Given the description of an element on the screen output the (x, y) to click on. 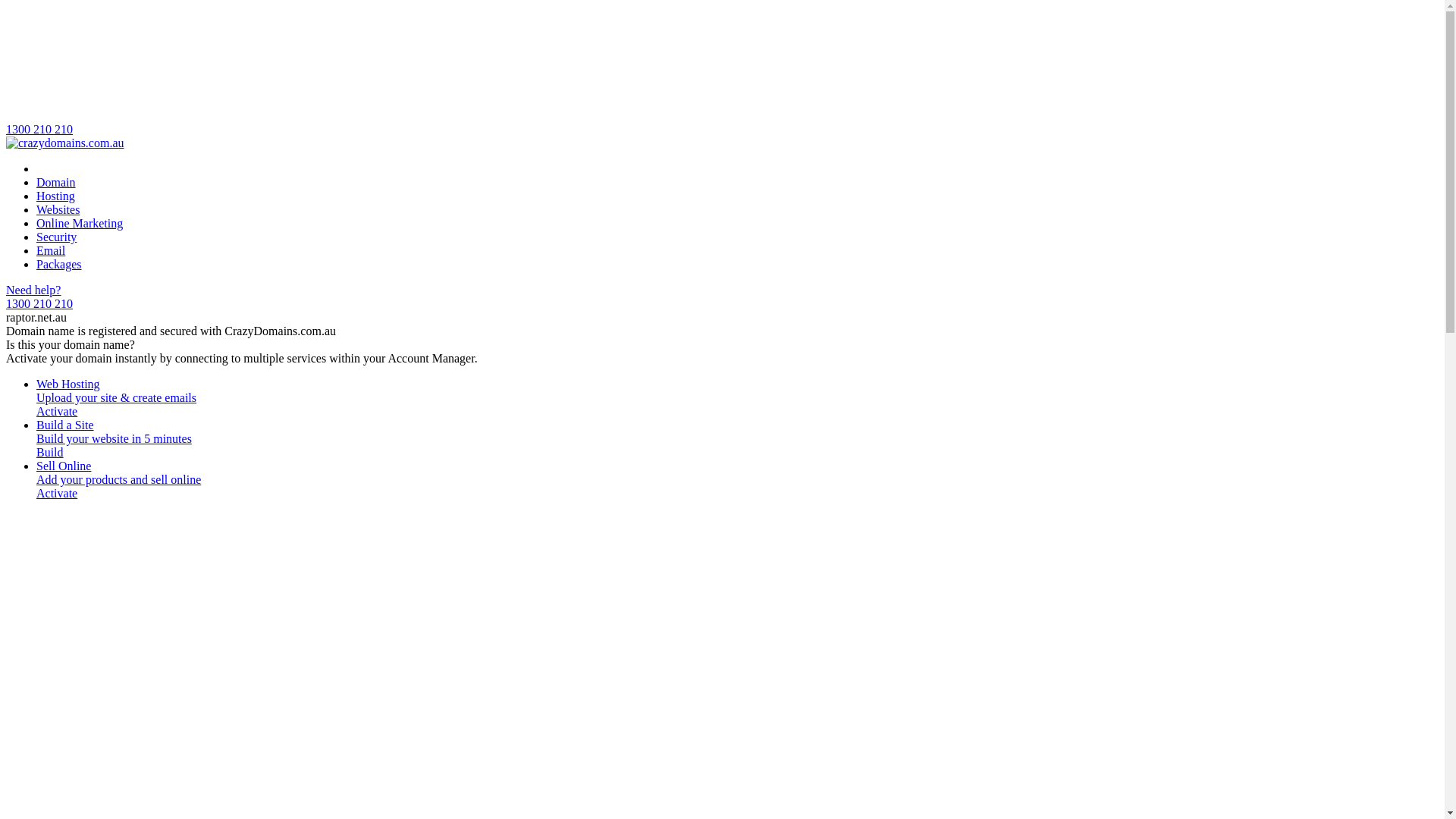
Domain Element type: text (55, 181)
Online Marketing Element type: text (79, 222)
1300 210 210 Element type: text (722, 70)
Sell Online
Add your products and sell online
Activate Element type: text (737, 479)
Build a Site
Build your website in 5 minutes
Build Element type: text (737, 438)
Packages Element type: text (58, 263)
Need help?
1300 210 210 Element type: text (722, 296)
Security Element type: text (56, 236)
Email Element type: text (50, 250)
Websites Element type: text (57, 209)
Hosting Element type: text (55, 195)
Web Hosting
Upload your site & create emails
Activate Element type: text (737, 397)
